Given the description of an element on the screen output the (x, y) to click on. 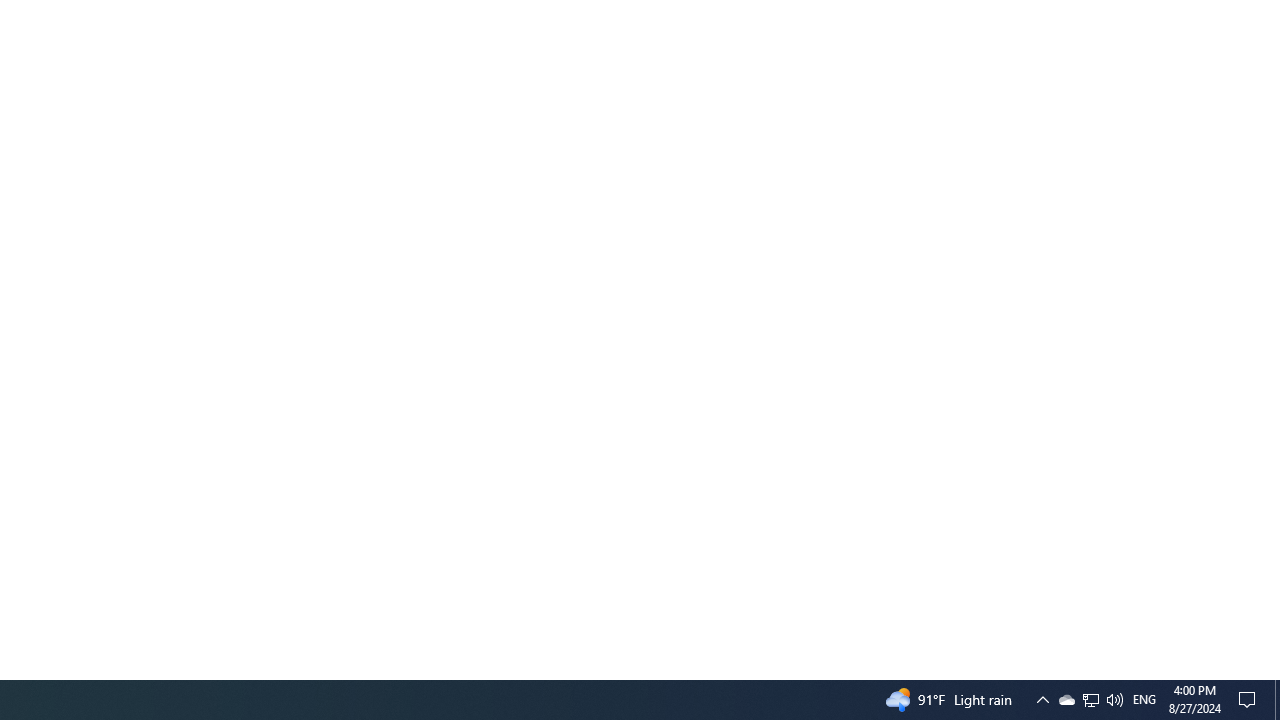
Tray Input Indicator - English (United States) (1091, 699)
Q2790: 100% (1144, 699)
User Promoted Notification Area (1114, 699)
Show desktop (1090, 699)
Notification Chevron (1277, 699)
Action Center, No new notifications (1042, 699)
